Given the description of an element on the screen output the (x, y) to click on. 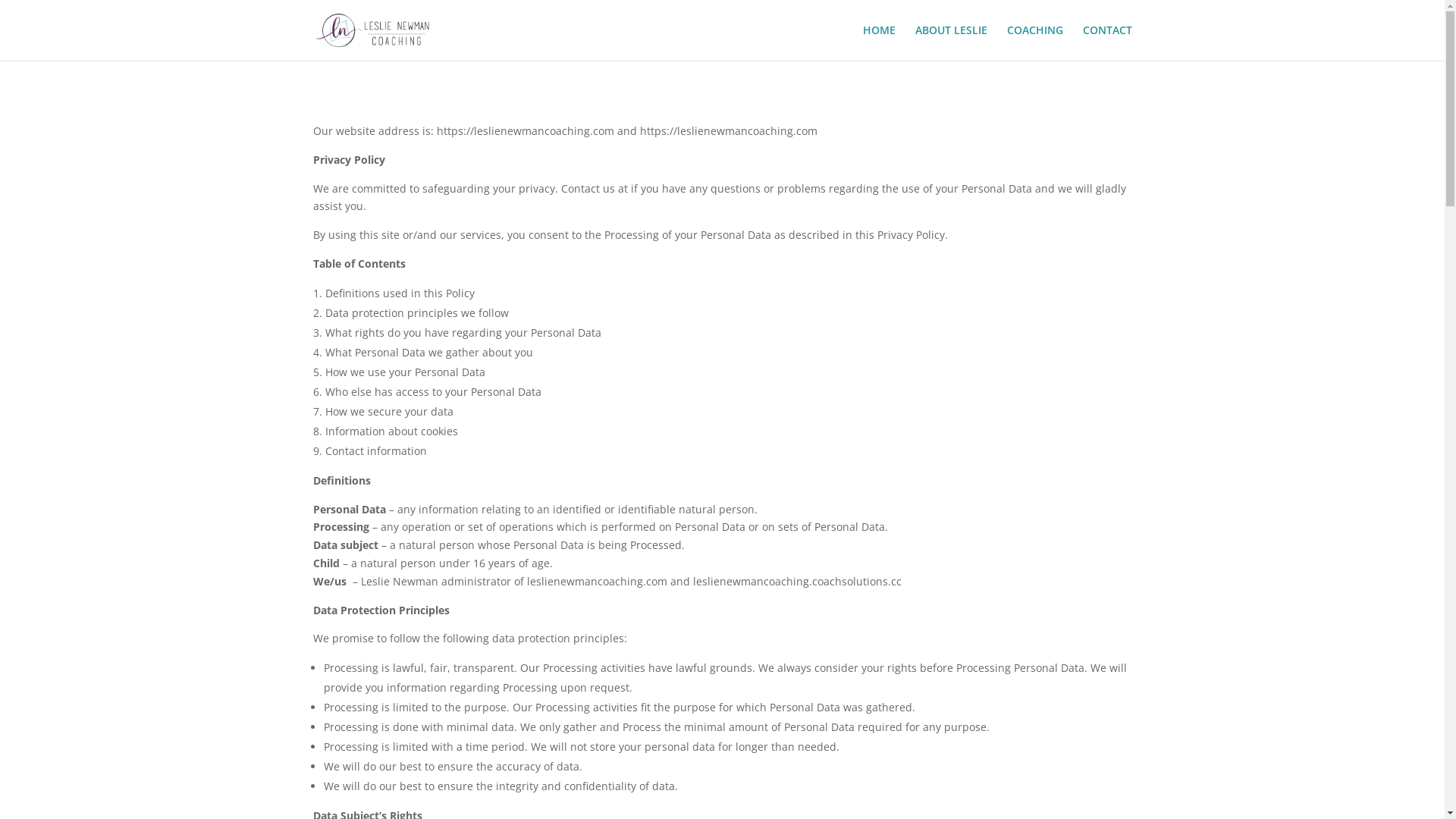
HOME Element type: text (878, 42)
COACHING Element type: text (1035, 42)
ABOUT LESLIE Element type: text (950, 42)
CONTACT Element type: text (1107, 42)
